Given the description of an element on the screen output the (x, y) to click on. 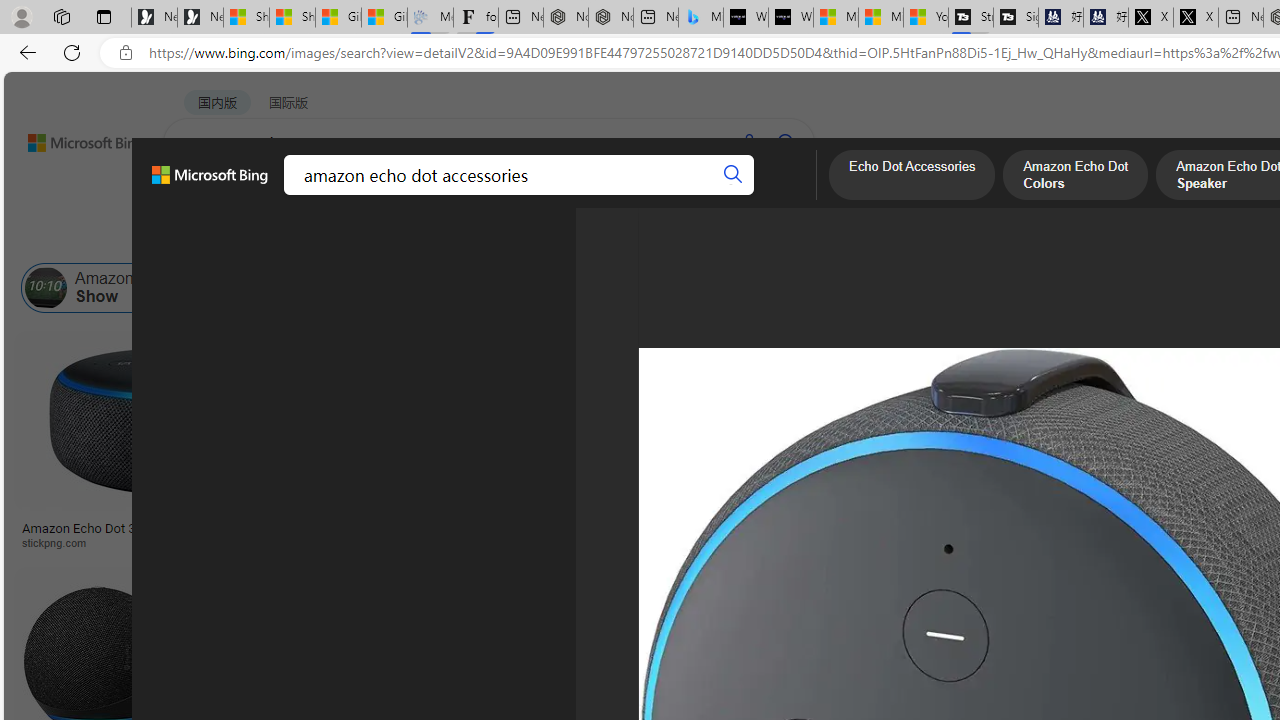
FrAndroid (800, 542)
DICT (630, 195)
Search button (732, 174)
Class: item col (1070, 287)
Amazon Echo Dot 3rd (575, 287)
Image result for Amazon Echo Dot PNG (1191, 421)
Date (591, 237)
With Clock (995, 460)
Nordace - #1 Japanese Best-Seller - Siena Smart Backpack (610, 17)
Smart Speaker Alexa (995, 521)
